Given the description of an element on the screen output the (x, y) to click on. 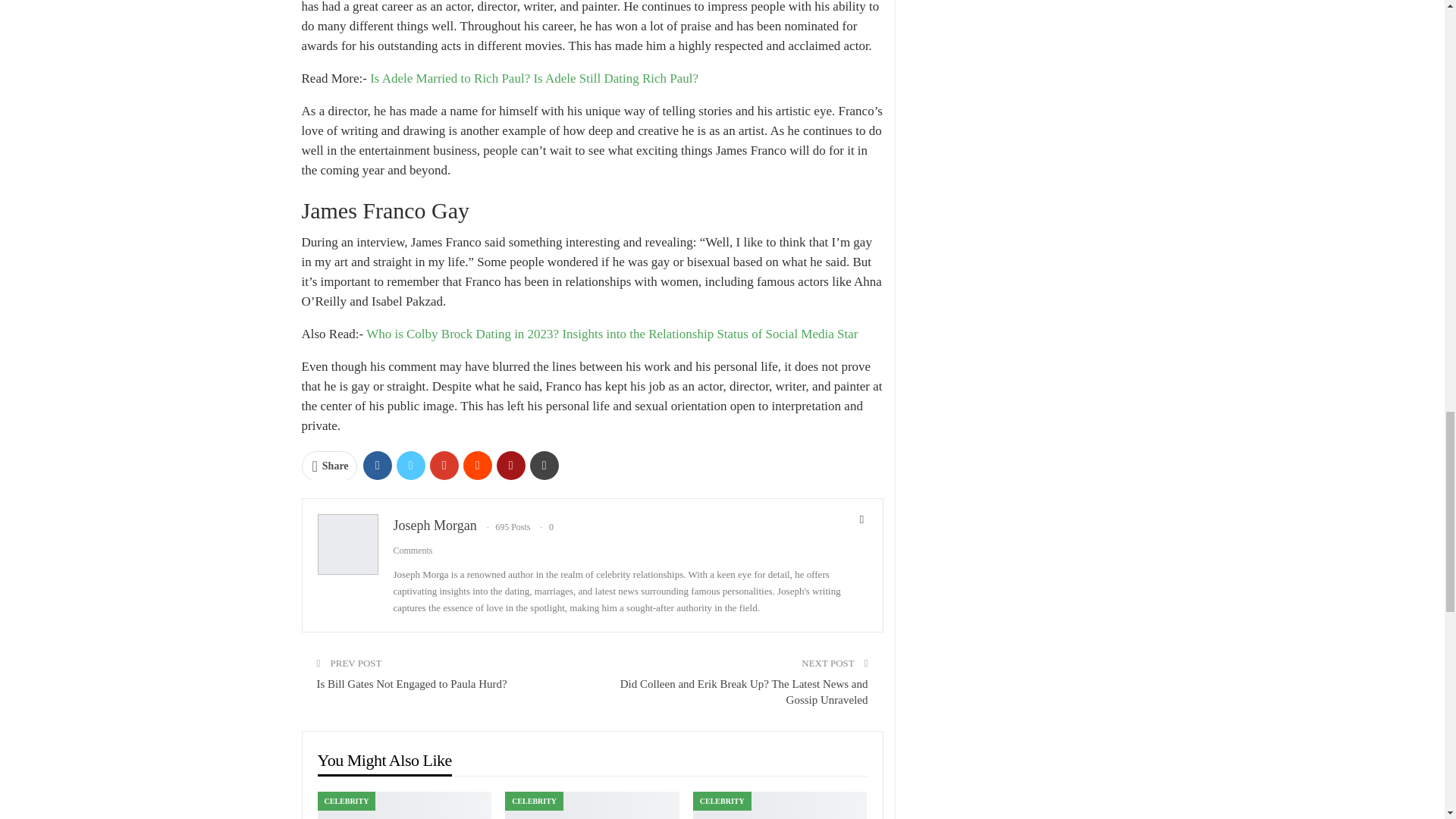
What Type of Cancer Did Brian Piccolo Have? (780, 805)
What is the Current Relationship Status of Eric Dane? (592, 805)
